Given the description of an element on the screen output the (x, y) to click on. 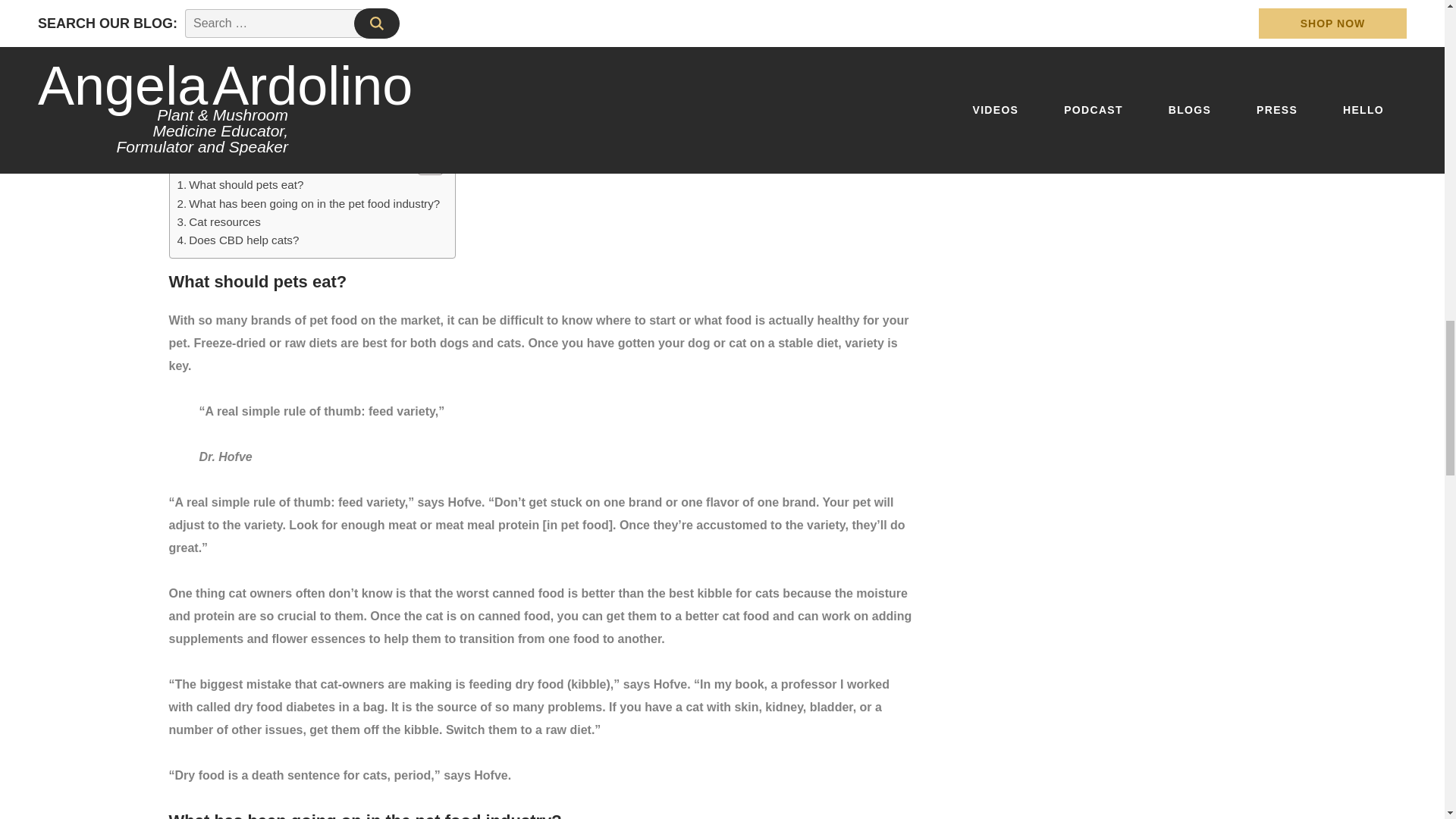
Cat resources (218, 221)
Does CBD help cats? (238, 239)
What should pets eat? (240, 185)
What has been going on in the pet food industry? (309, 203)
What has been going on in the pet food industry? (309, 203)
What should pets eat? (240, 185)
Does CBD help cats? (238, 239)
Cat resources (218, 221)
